Given the description of an element on the screen output the (x, y) to click on. 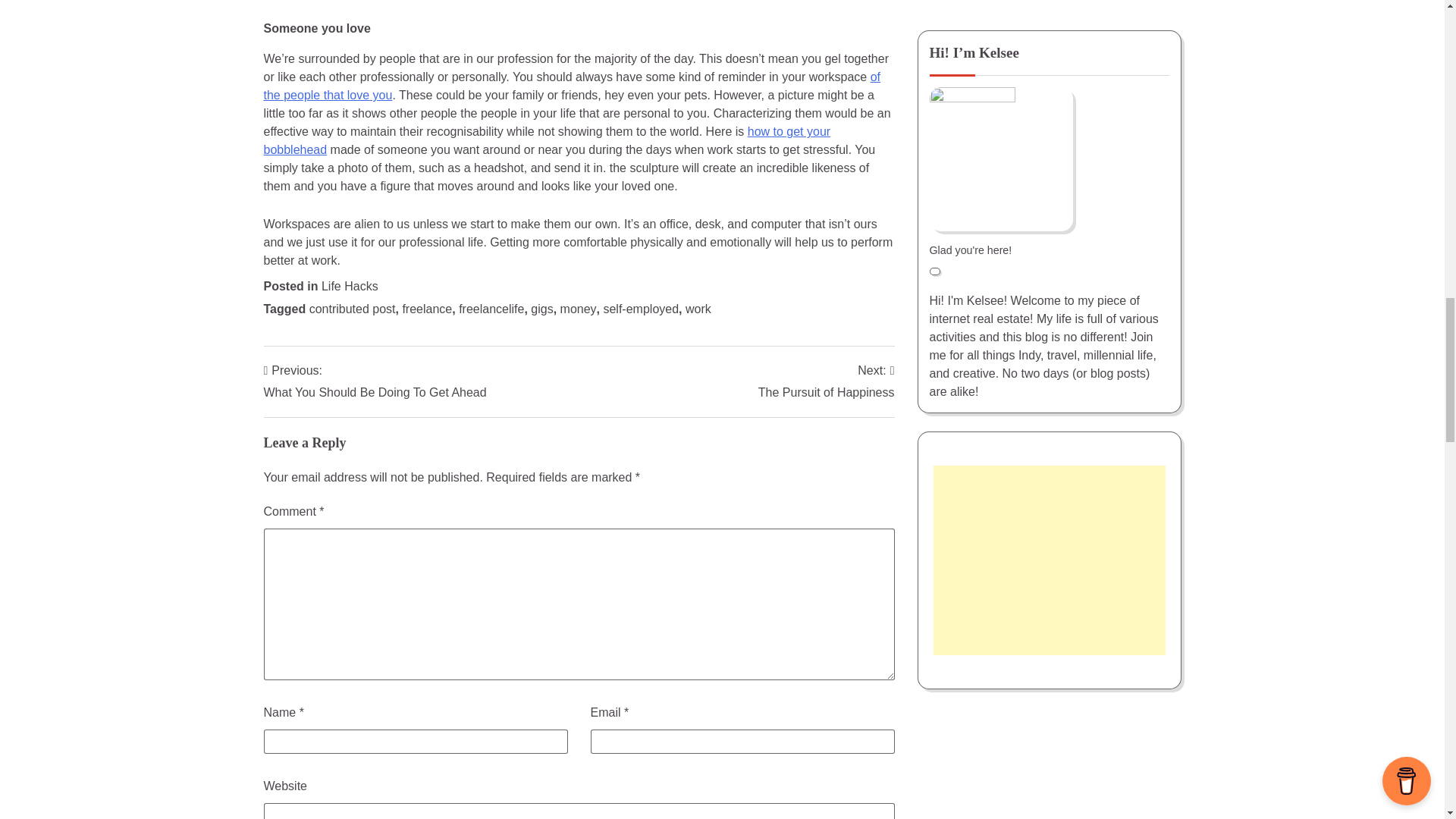
contributed post (352, 308)
freelance (426, 308)
work (374, 381)
money (698, 308)
self-employed (578, 308)
of the people that love you (640, 308)
gigs (571, 85)
how to get your bobblehead (826, 381)
freelancelife (542, 308)
Life Hacks (547, 140)
